Given the description of an element on the screen output the (x, y) to click on. 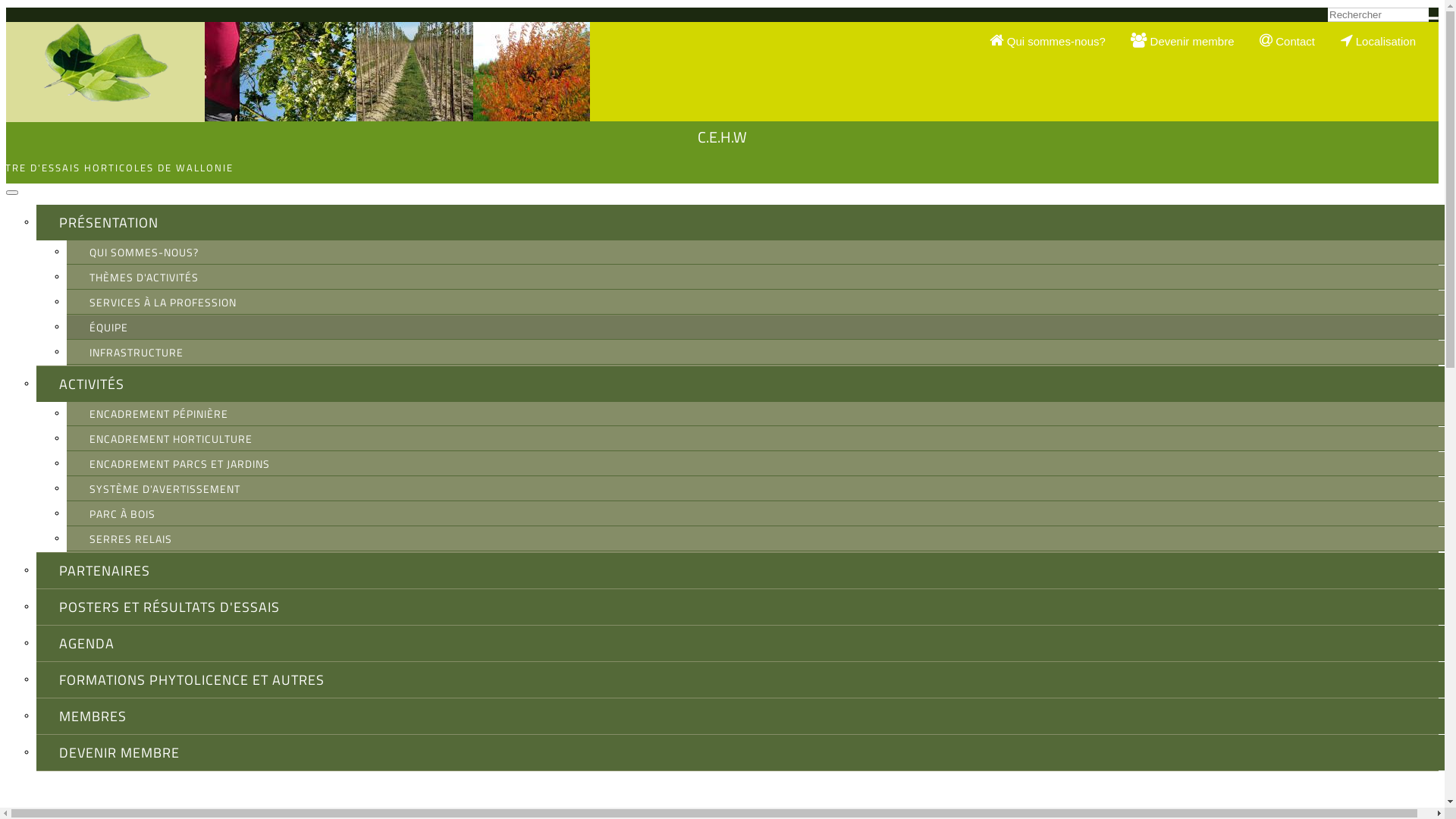
C.E.H.W Element type: text (722, 136)
Localisation Element type: text (1389, 41)
Contact Element type: text (1298, 41)
Accueil Element type: hover (105, 71)
Devenir membre Element type: text (1193, 41)
Qui sommes-nous? Element type: text (1058, 41)
Toggle navigation Element type: text (12, 192)
Rechercher Element type: text (1358, 23)
Aller au contenu principal Element type: text (66, 7)
